Given the description of an element on the screen output the (x, y) to click on. 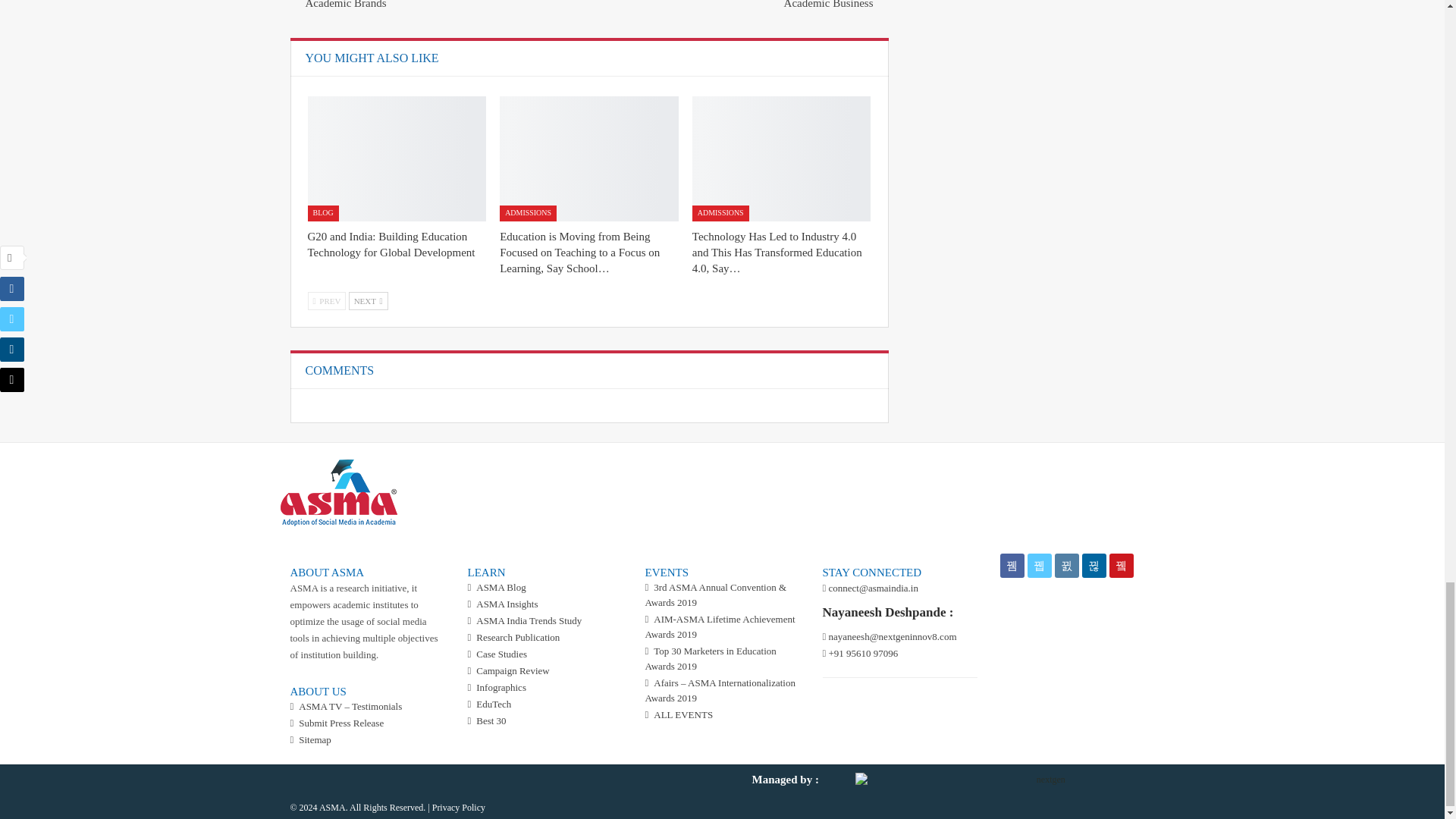
Previous (326, 300)
Next (368, 300)
